Given the description of an element on the screen output the (x, y) to click on. 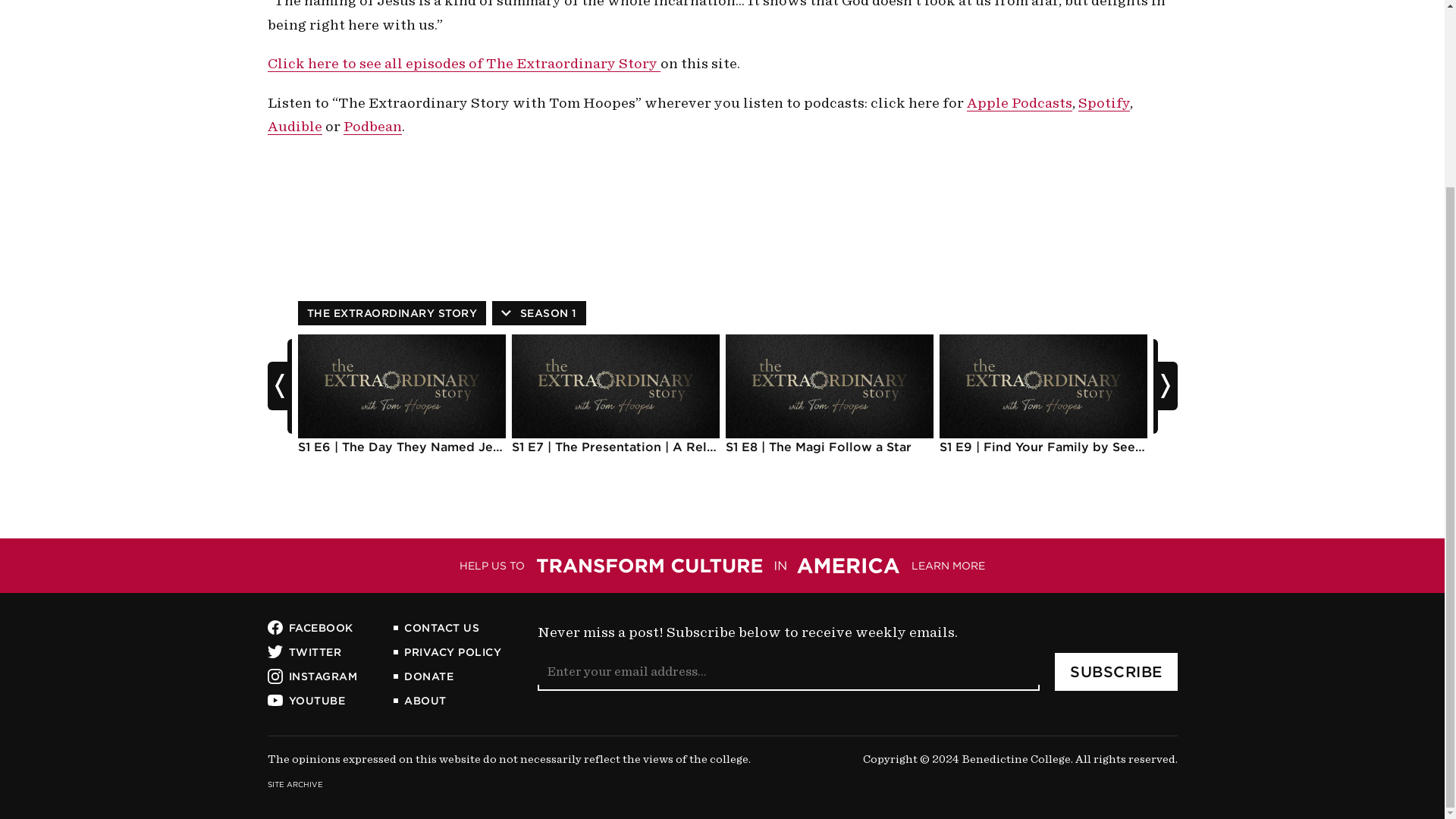
Click here to see all episodes of The Extraordinary Story (462, 63)
Podbean (371, 126)
The Extraordinary Story (391, 313)
Audible (293, 126)
THE EXTRAORDINARY STORY (391, 313)
Apple Podcasts (1018, 103)
Spotify (1103, 103)
Subscribe (1115, 671)
Previous (278, 386)
